Given the description of an element on the screen output the (x, y) to click on. 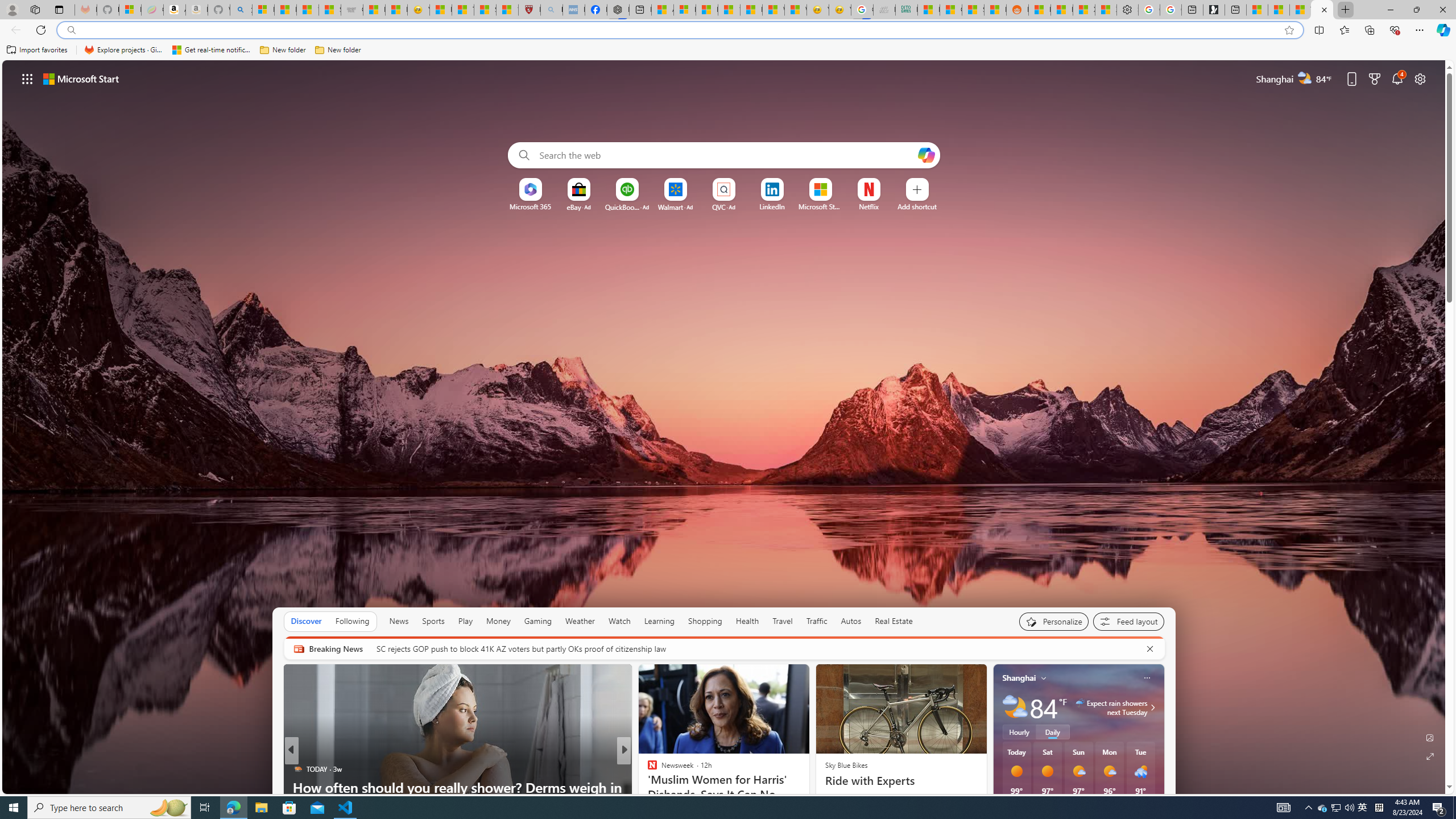
Play (465, 621)
Money (497, 621)
To get missing image descriptions, open the context menu. (529, 189)
Weather (580, 621)
LinkedIn (771, 206)
Travel (782, 621)
